Given the description of an element on the screen output the (x, y) to click on. 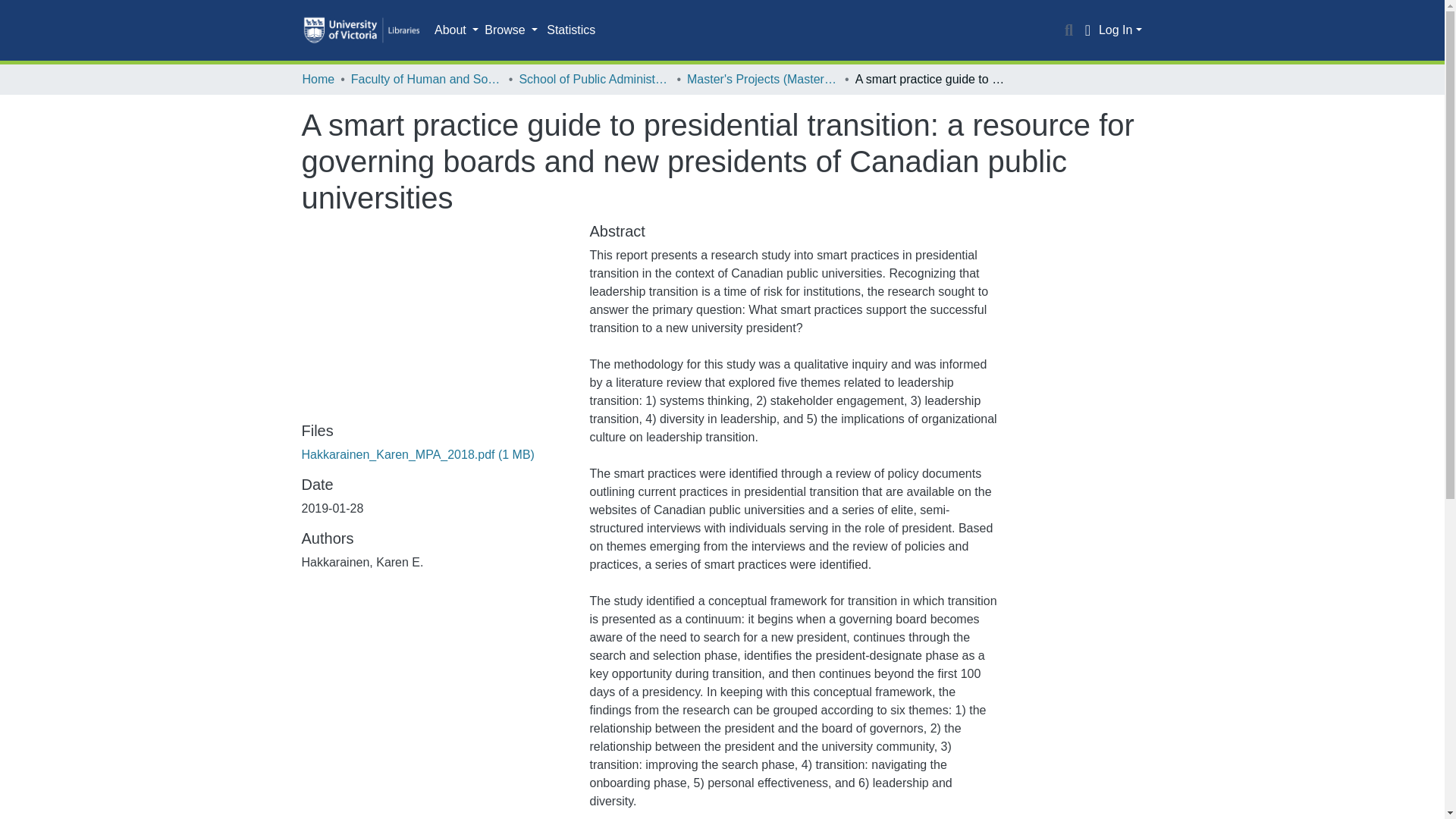
About (455, 30)
Statistics (570, 30)
Log In (1119, 29)
Language switch (1087, 30)
School of Public Administration (593, 79)
Faculty of Human and Social Development (426, 79)
Statistics (570, 30)
Home (317, 79)
Search (1068, 30)
Browse (510, 30)
